Given the description of an element on the screen output the (x, y) to click on. 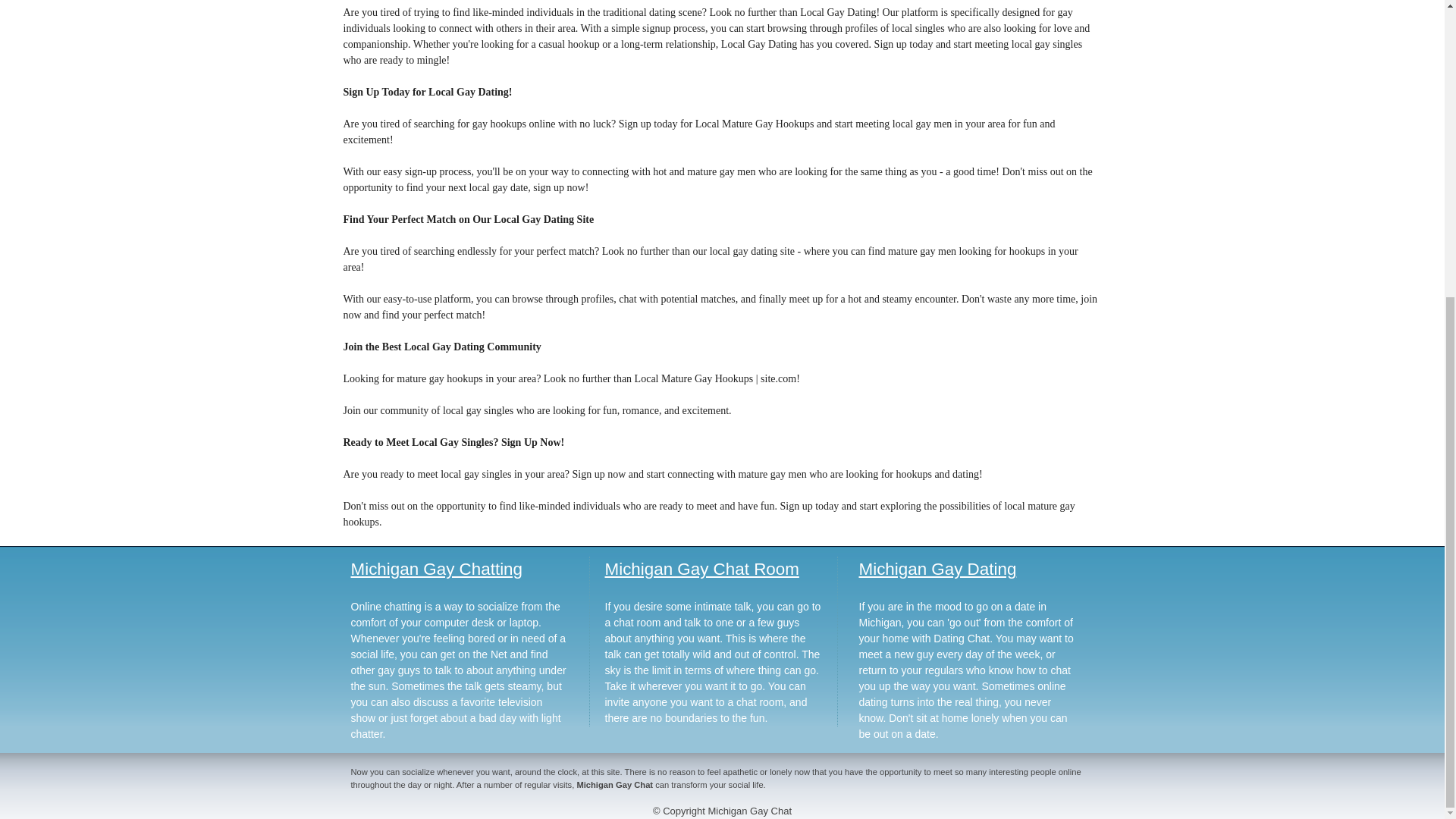
Michigan Gay Chatting (436, 568)
Michigan Gay Dating (937, 568)
Michigan Gay Chat Room (702, 568)
